Given the description of an element on the screen output the (x, y) to click on. 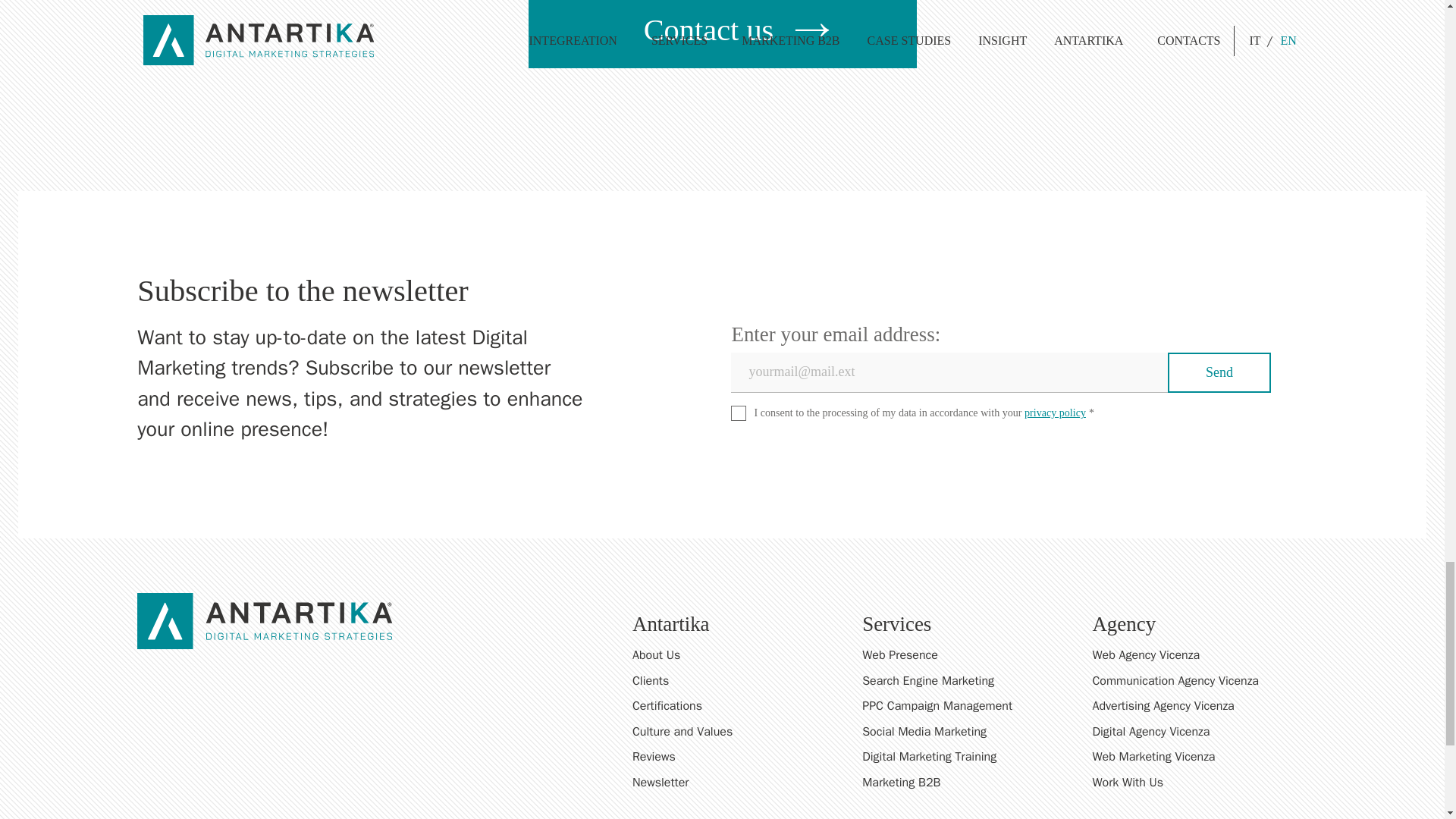
Privacy Policy (1055, 412)
Digital Marketing Training (969, 757)
PPC Campaign Management (969, 705)
Web Presence (969, 655)
Send (1219, 372)
Communication Agency Vicenza (1199, 680)
About Us (969, 655)
Search Engine Marketing (969, 680)
Reviews (969, 757)
Marketing B2B (969, 782)
